Given the description of an element on the screen output the (x, y) to click on. 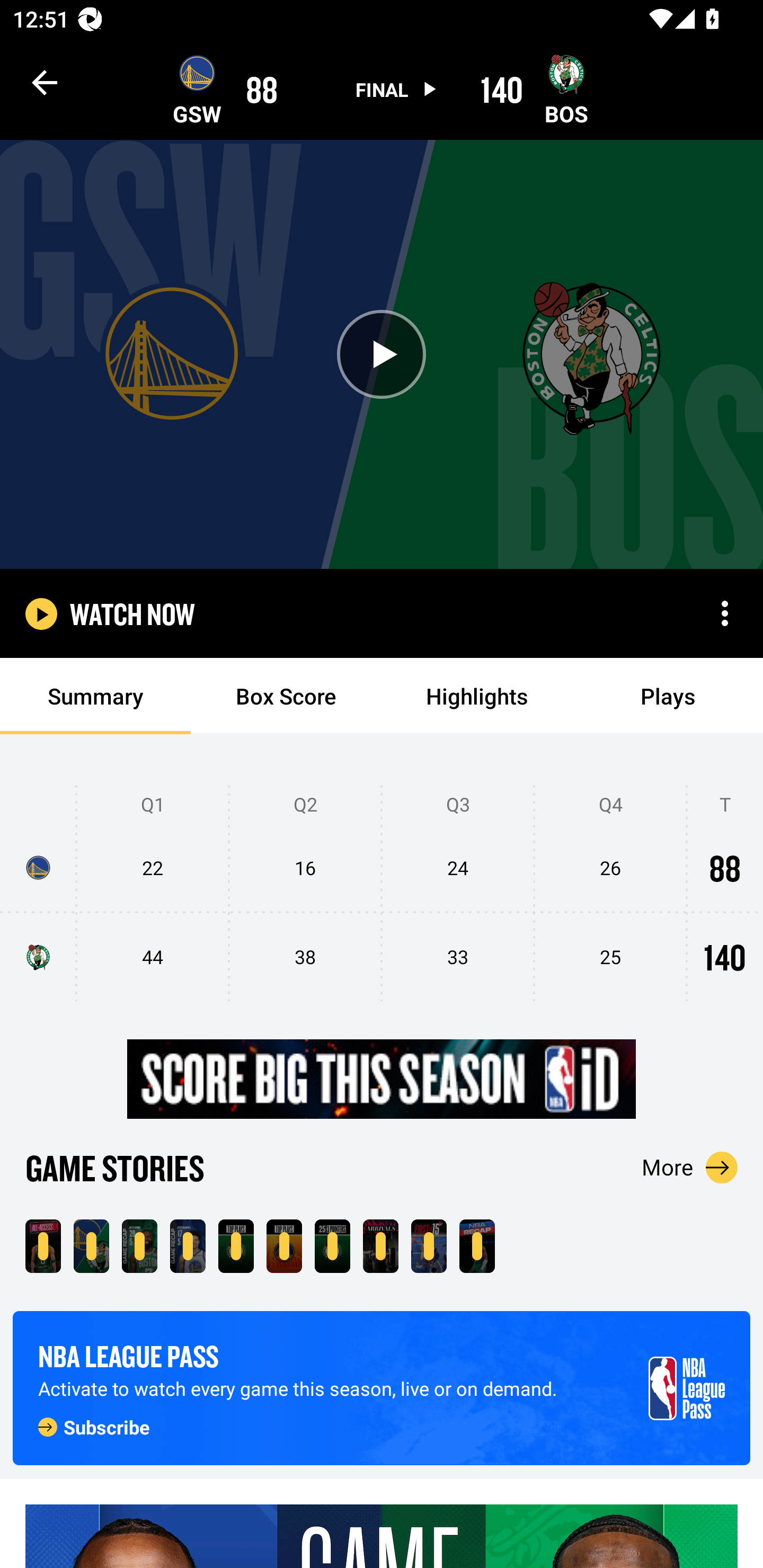
Navigate up (44, 82)
More options (724, 613)
WATCH NOW (132, 613)
Box Score (285, 695)
Highlights (476, 695)
Plays (667, 695)
Q1 Q2 Q3 Q4 T 22 16 24 26 88 44 38 33 25 140 (381, 893)
More (689, 1166)
Warriors And Celtics Clash At TD Garden 🍀 NEW (43, 1246)
BOS 140, GSW 88 - Mar 3 NEW (91, 1246)
Highlights From Jaylen Brown's 29-Point Game NEW (139, 1246)
Highlights From Lester Quinones' 17-Point Game NEW (187, 1246)
BOS' Top Plays from GSW vs. BOS NEW (236, 1246)
GSW's Top Plays from GSW vs. BOS NEW (284, 1246)
All 3-pointers from BOS' 25 3-pointer Night NEW (332, 1246)
Steppin' Into Sunday 🔥 NEW (380, 1246)
First To 15, Mar. 3rd NEW (428, 1246)
Sunday's Recap NEW (477, 1246)
